Given the description of an element on the screen output the (x, y) to click on. 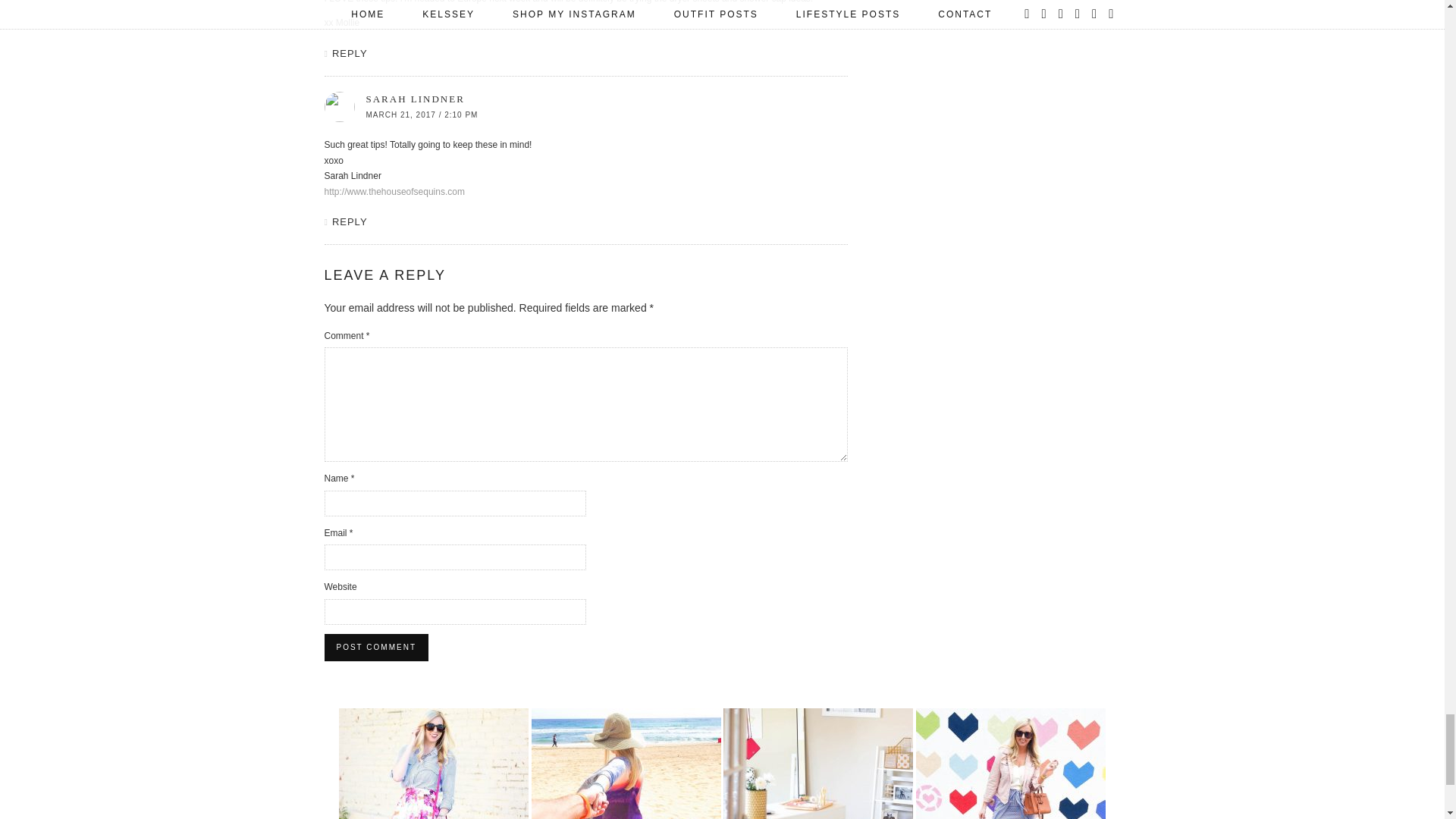
Post Comment (376, 646)
